Given the description of an element on the screen output the (x, y) to click on. 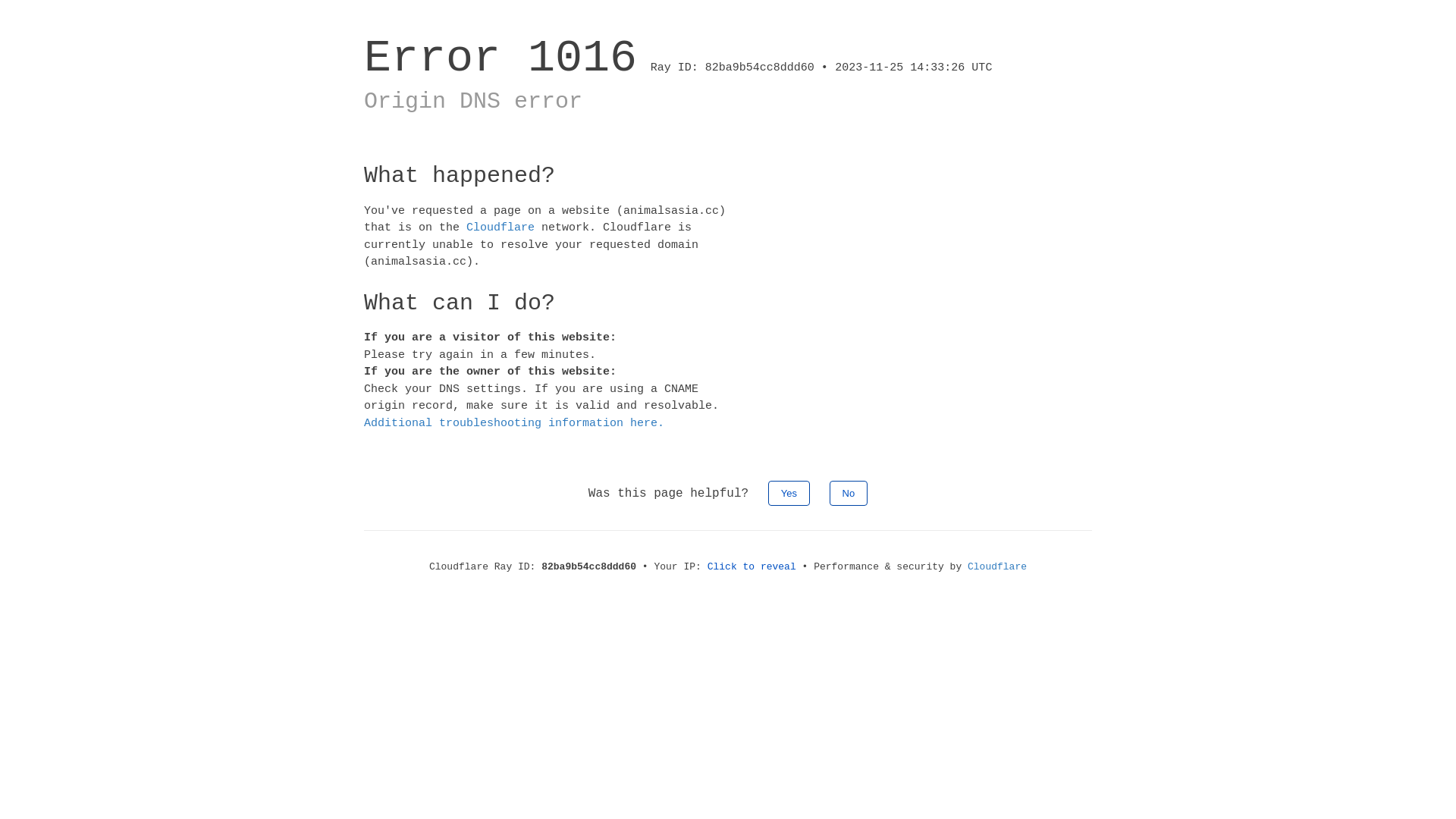
Cloudflare Element type: text (500, 227)
Click to reveal Element type: text (751, 566)
Additional troubleshooting information here. Element type: text (514, 423)
No Element type: text (848, 492)
Cloudflare Element type: text (996, 566)
Yes Element type: text (788, 492)
